Given the description of an element on the screen output the (x, y) to click on. 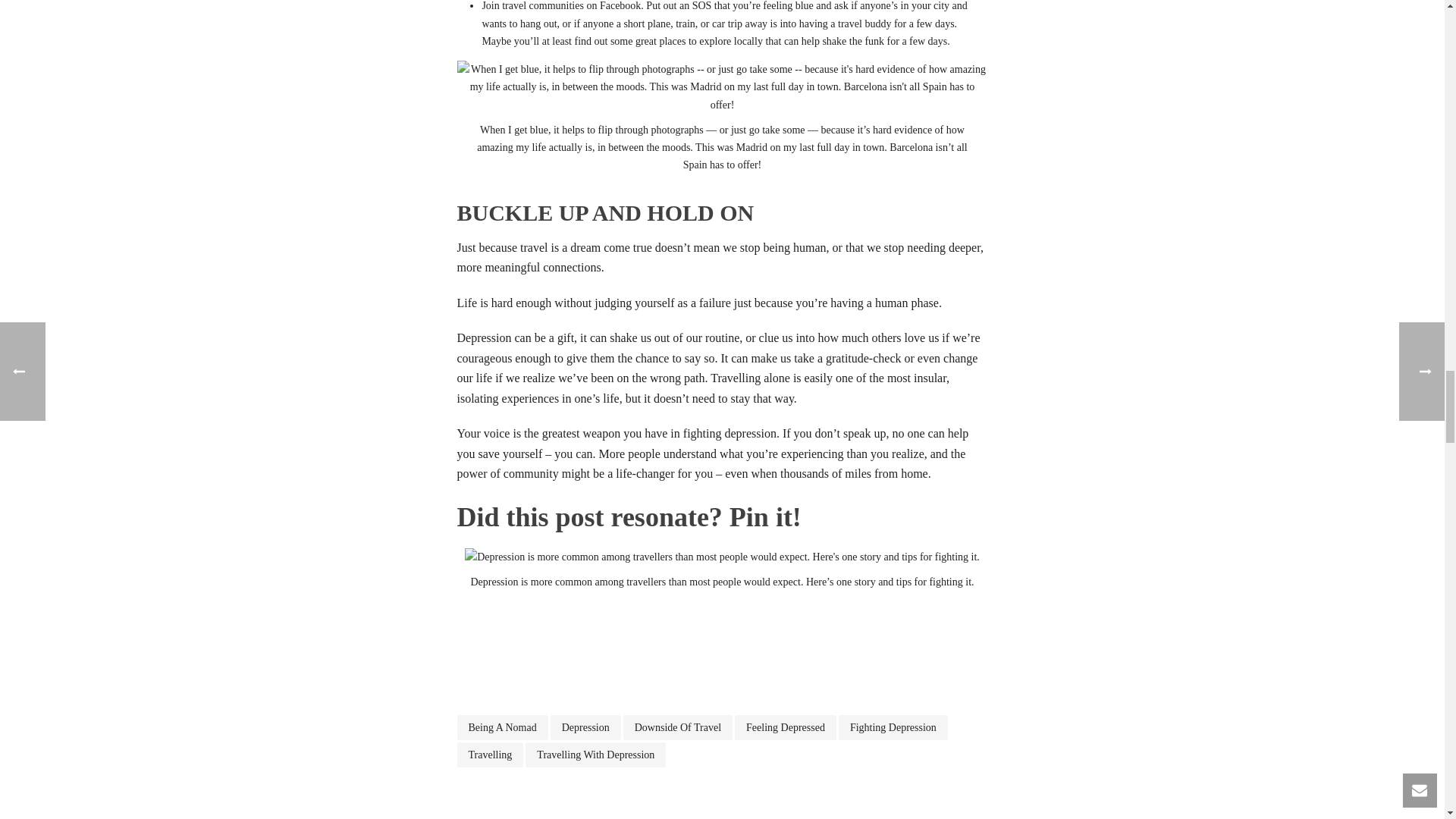
Downside Of Travel (677, 727)
Being A Nomad (502, 727)
Feeling Depressed (785, 727)
Depression (585, 727)
